Given the description of an element on the screen output the (x, y) to click on. 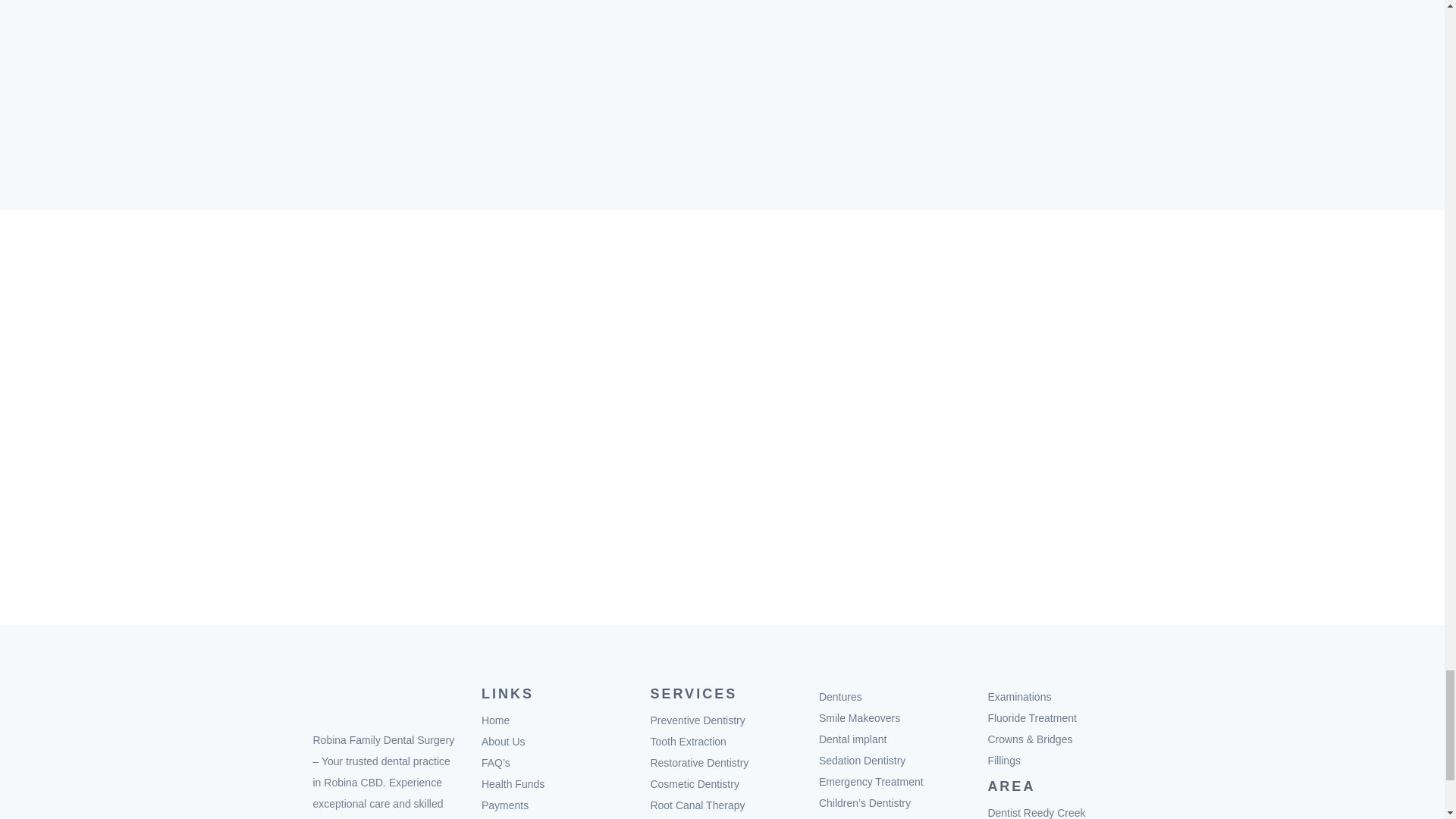
Robina-Family-Dental-logo (385, 701)
